Given the description of an element on the screen output the (x, y) to click on. 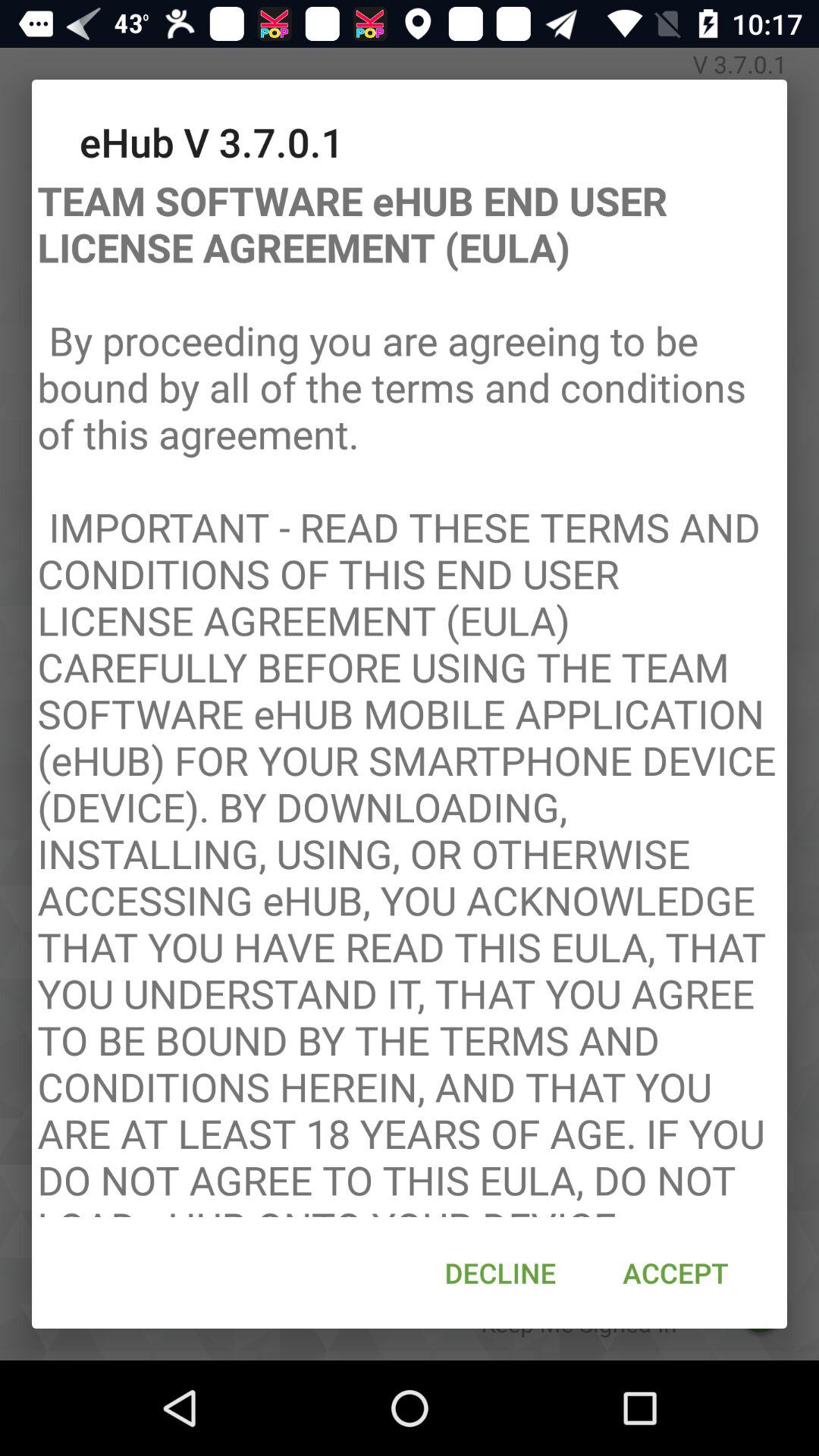
launch accept at the bottom right corner (675, 1272)
